Given the description of an element on the screen output the (x, y) to click on. 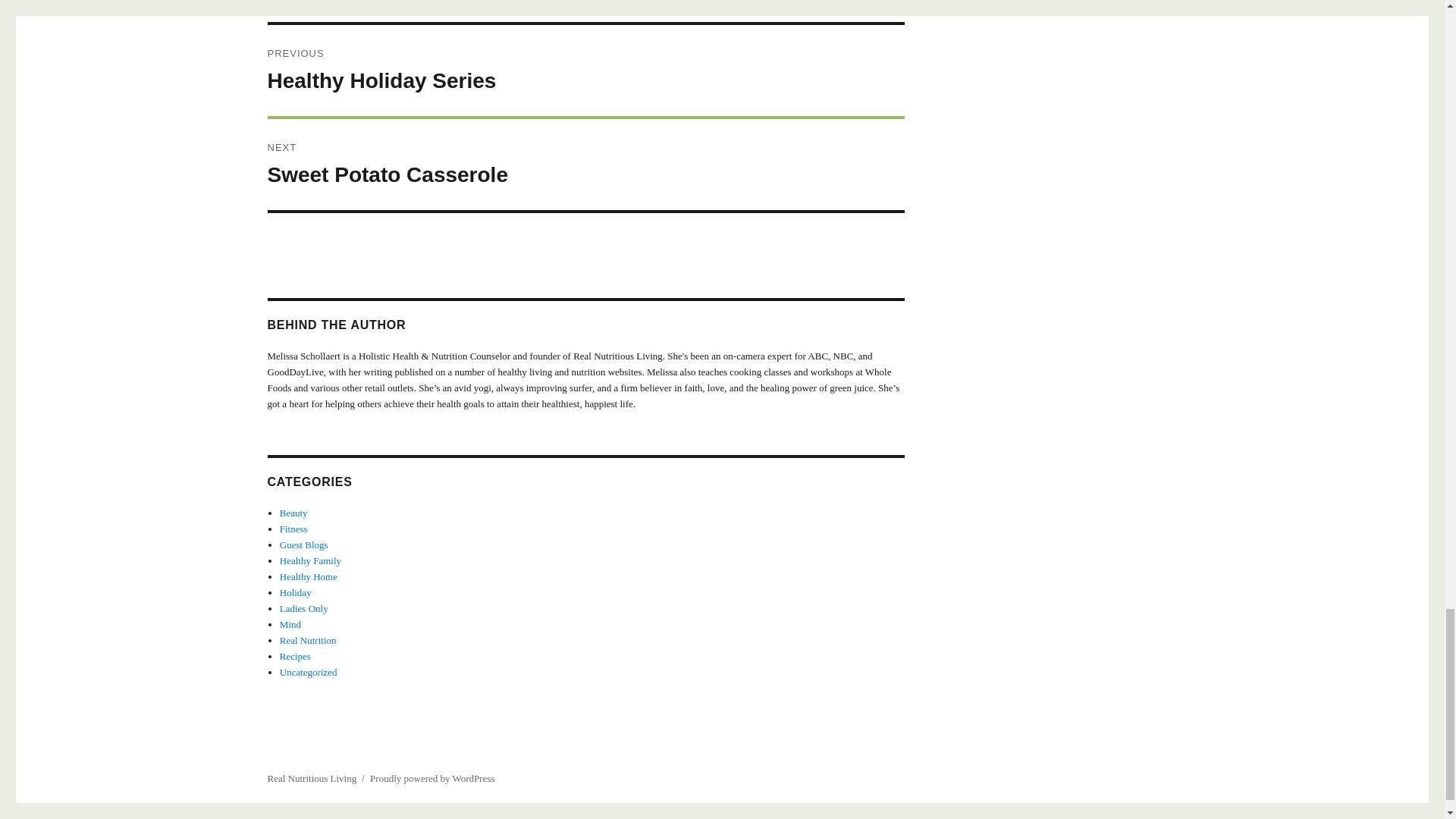
Guest Blogs (304, 544)
Beauty (293, 512)
Fitness (585, 70)
Healthy Family (585, 163)
